Given the description of an element on the screen output the (x, y) to click on. 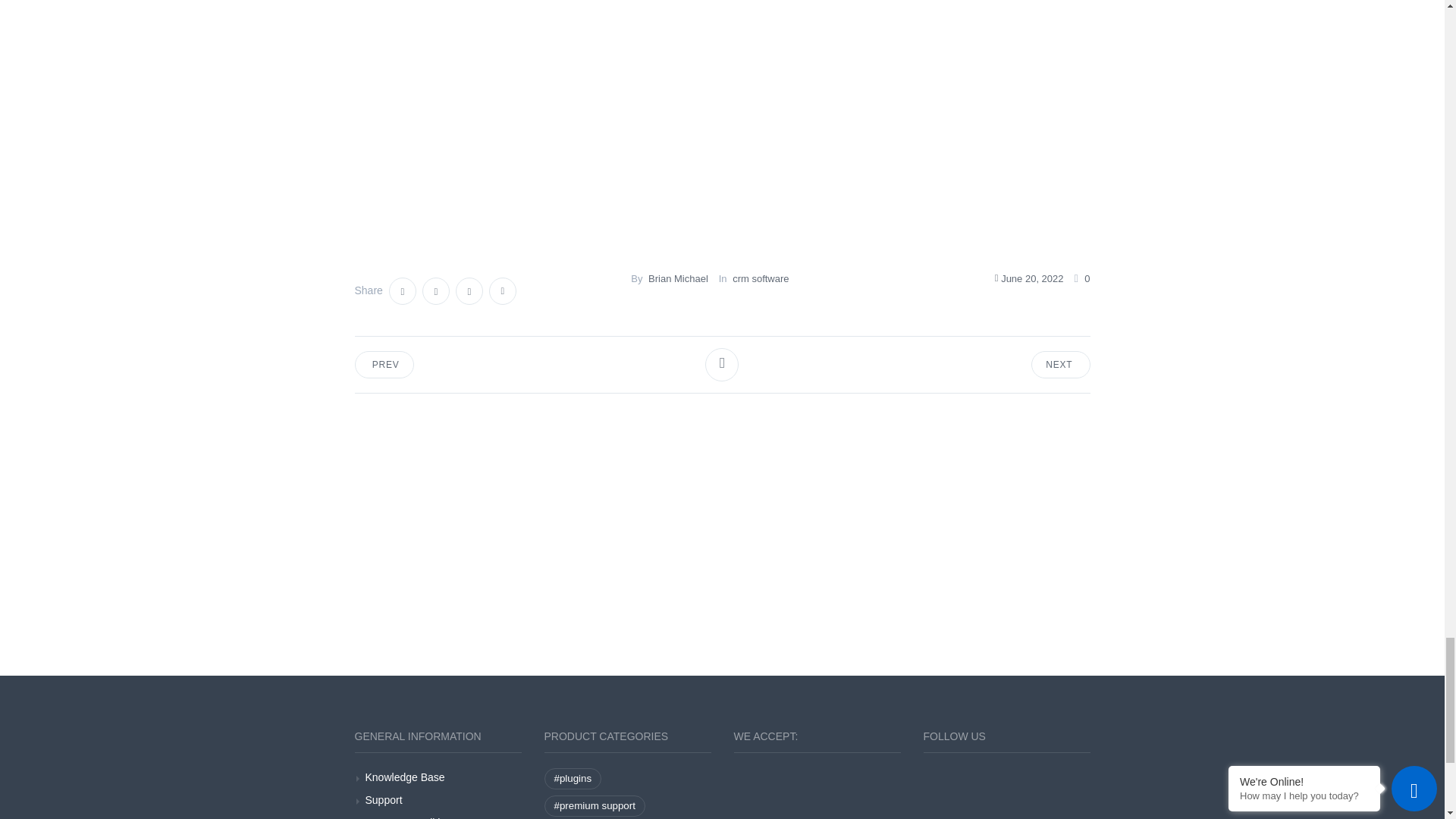
0 (1081, 278)
